Given the description of an element on the screen output the (x, y) to click on. 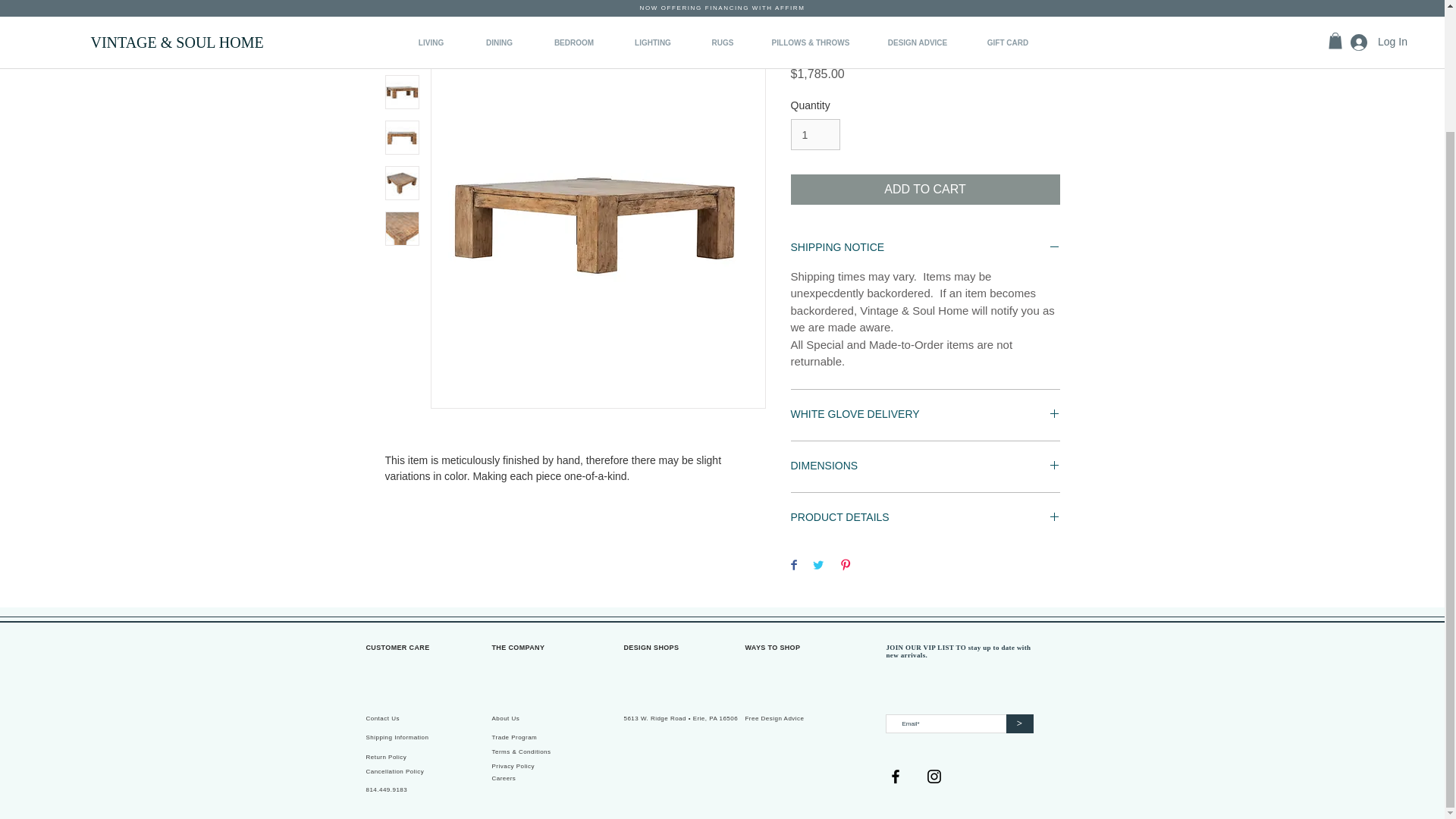
1 (815, 133)
WHITE GLOVE DELIVERY (924, 414)
ADD TO CART (924, 189)
SHIPPING NOTICE (924, 247)
DIMENSIONS (924, 466)
PRODUCT DETAILS (924, 518)
